Given the description of an element on the screen output the (x, y) to click on. 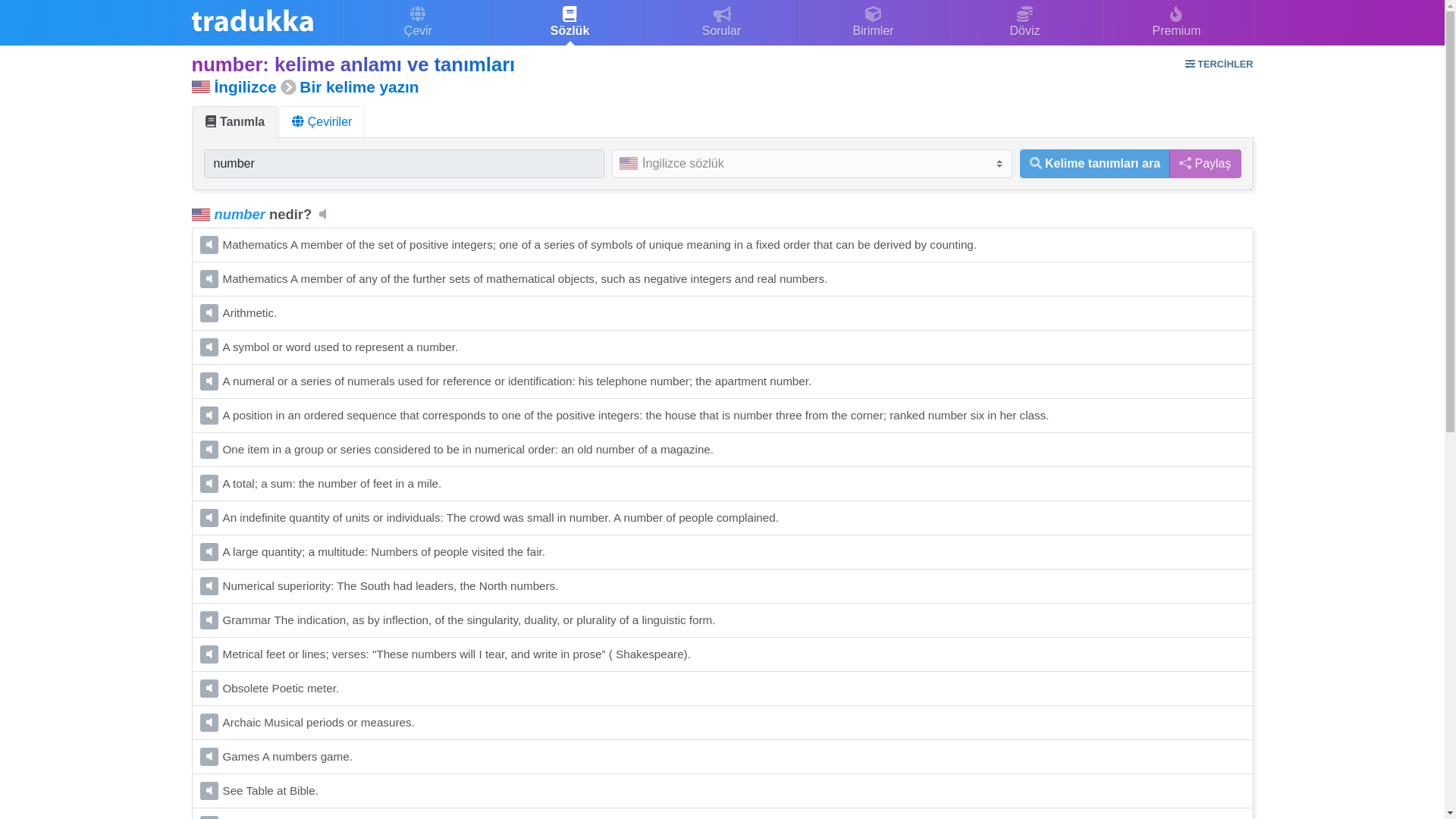
TERCIHLER (1218, 64)
Birimler (873, 22)
number (403, 163)
Premium (1176, 22)
Sorular (721, 22)
